Given the description of an element on the screen output the (x, y) to click on. 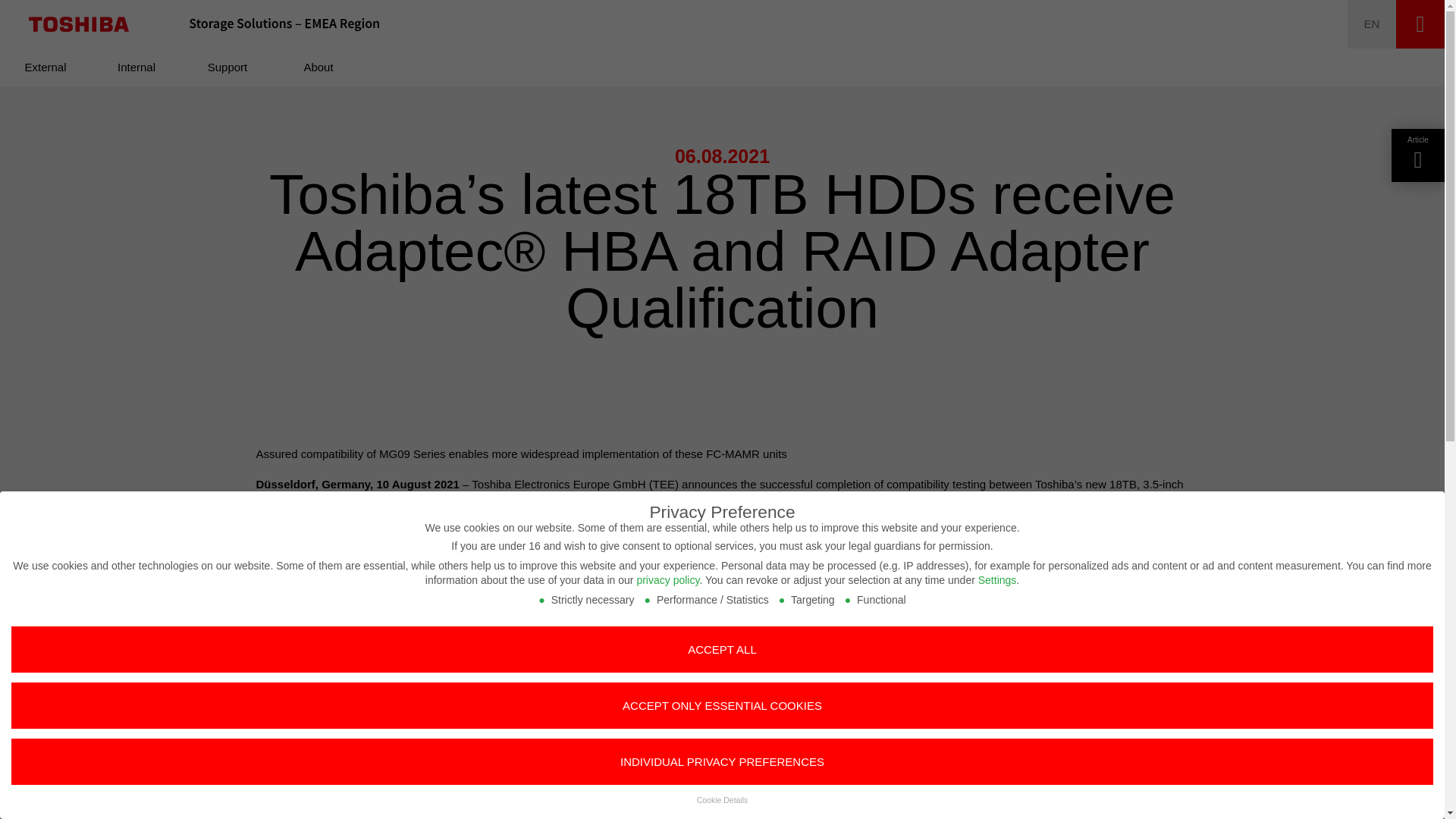
Support (227, 67)
English (1372, 24)
EN (1372, 24)
Open Cookie Preferences (32, 799)
Toshiba Germany Top Page (79, 23)
Internal (136, 67)
About (318, 67)
External (45, 67)
